Given the description of an element on the screen output the (x, y) to click on. 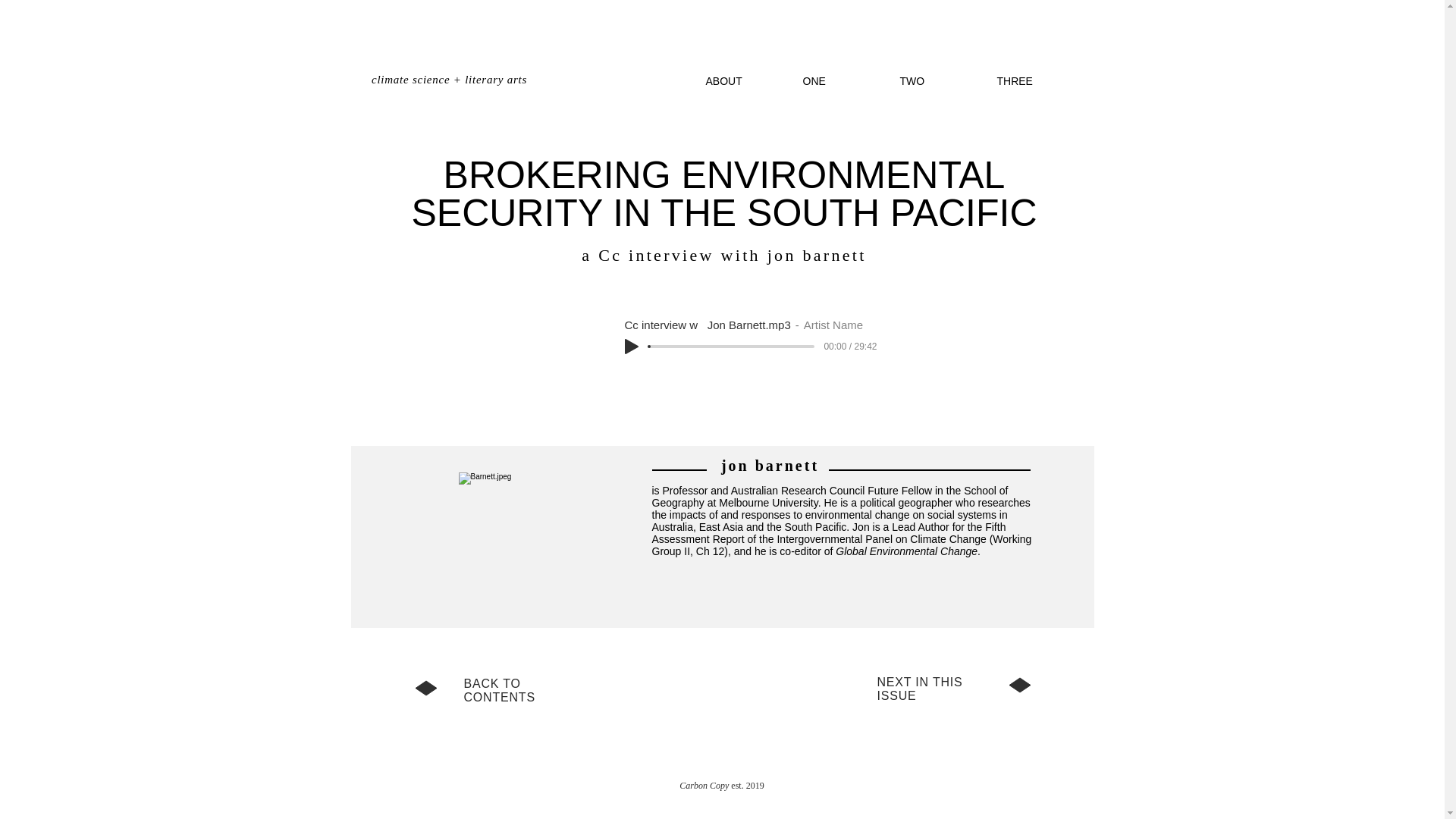
THREE (1033, 80)
0 (732, 346)
ONE (840, 80)
TWO (936, 80)
